Given the description of an element on the screen output the (x, y) to click on. 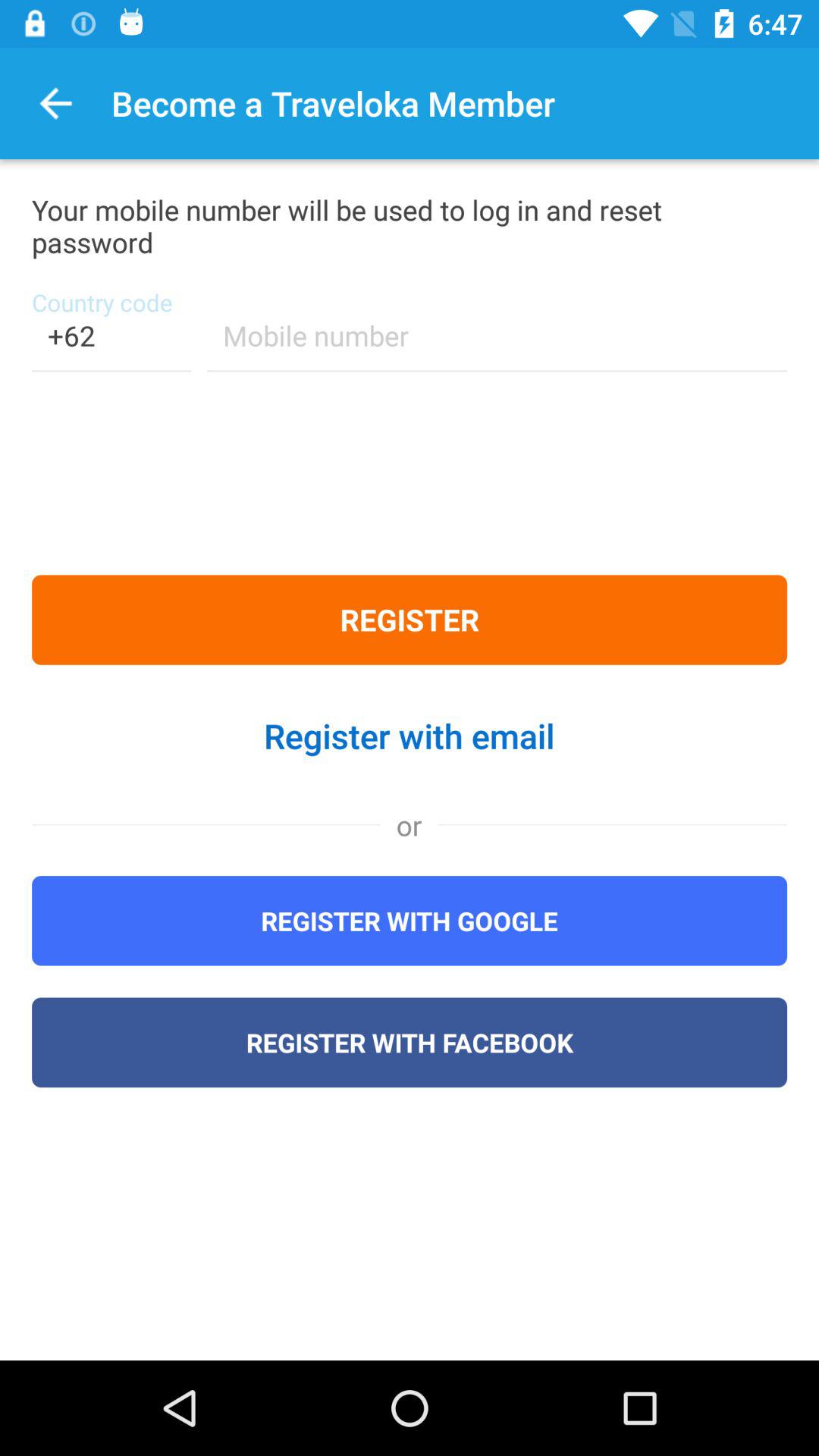
turn off item above the your mobile number item (55, 103)
